Given the description of an element on the screen output the (x, y) to click on. 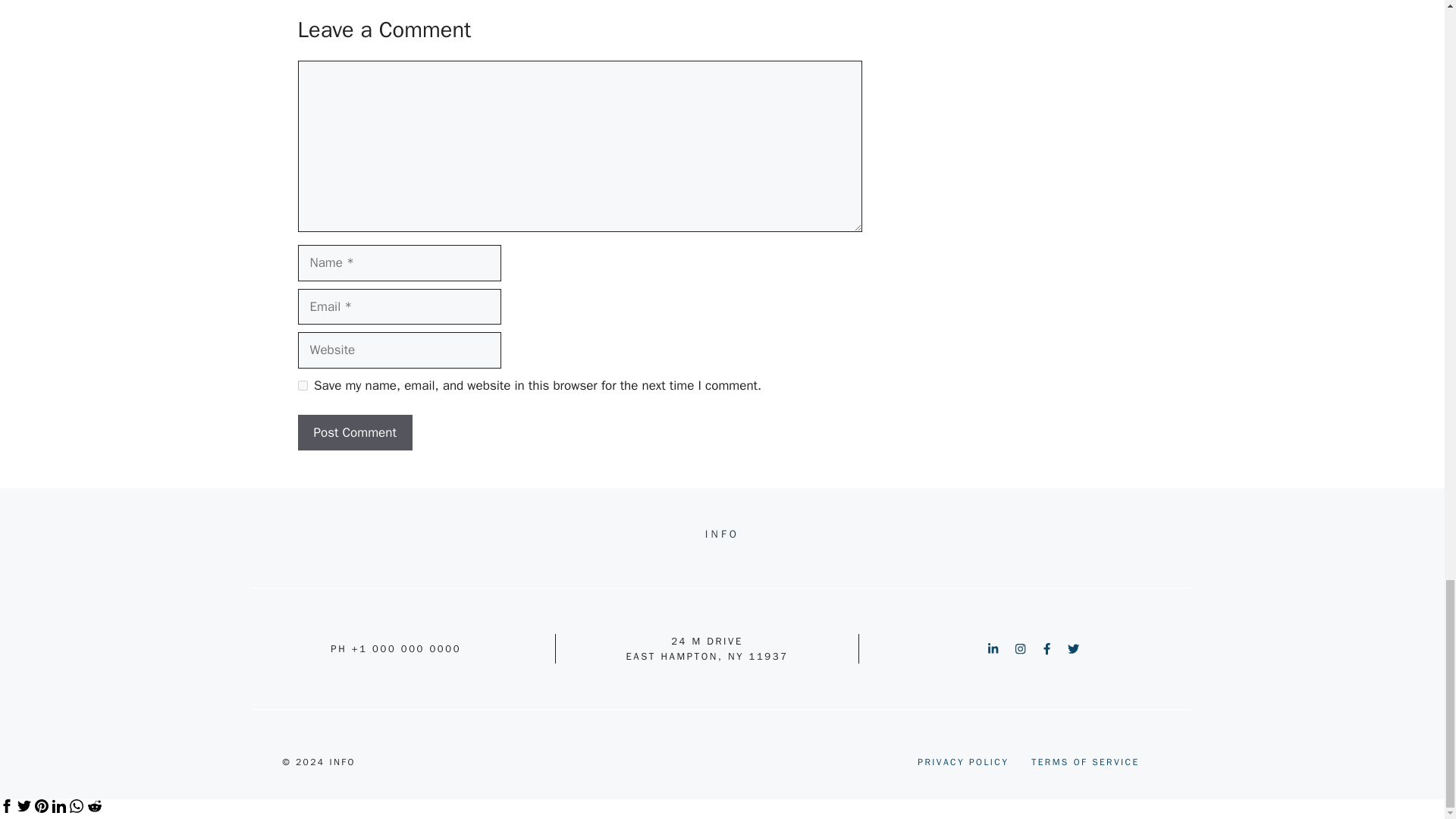
Post Comment (354, 432)
Post Comment (354, 432)
yes (302, 385)
